Given the description of an element on the screen output the (x, y) to click on. 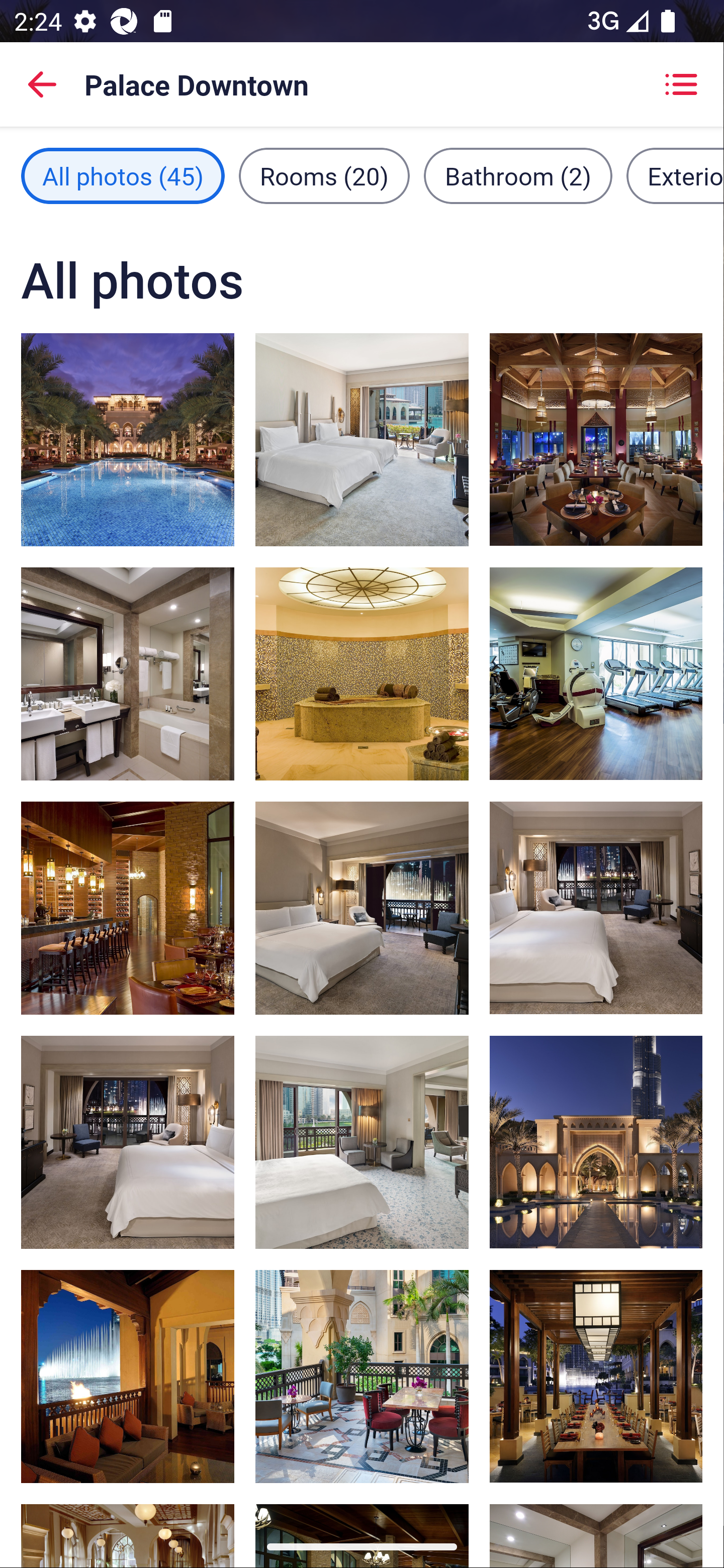
Back (42, 84)
Showing grid view (681, 84)
All photos filter, 45 images (122, 175)
Rooms filter, 20 images (323, 175)
Bathroom filter, 2 images (517, 175)
Exterior filter, 3 images (674, 175)
Restaurant, image (595, 438)
Gym, image (595, 673)
Restaurant, image (127, 907)
View from room, image (361, 1142)
Exterior, image (595, 1142)
Restaurant, image (127, 1376)
Lounge, image (361, 1376)
Restaurant, image (595, 1376)
